Given the description of an element on the screen output the (x, y) to click on. 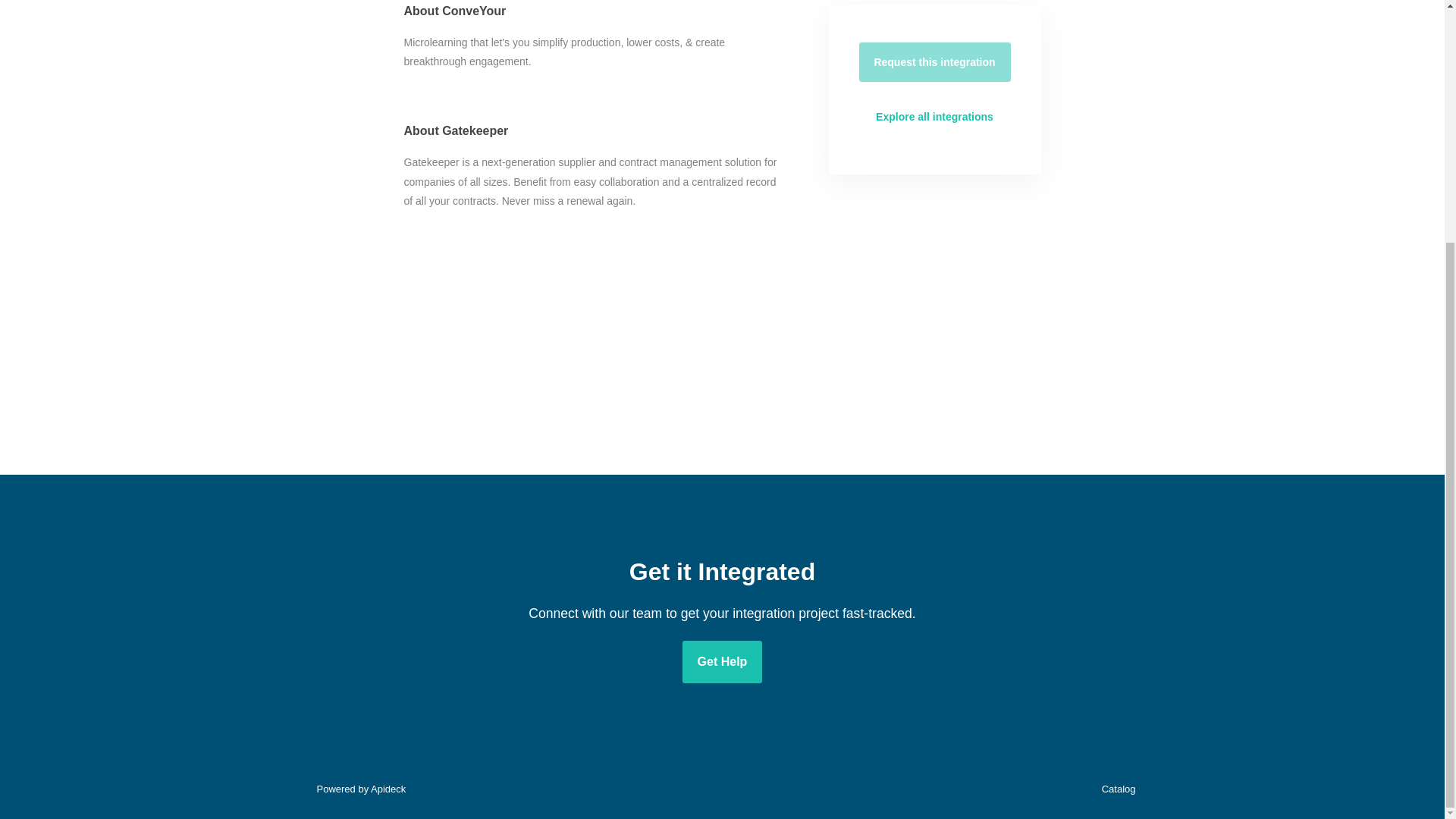
Catalog (1115, 789)
Explore all integrations (934, 116)
Get Help (722, 661)
Request this integration (934, 61)
Powered by Apideck (356, 789)
